Given the description of an element on the screen output the (x, y) to click on. 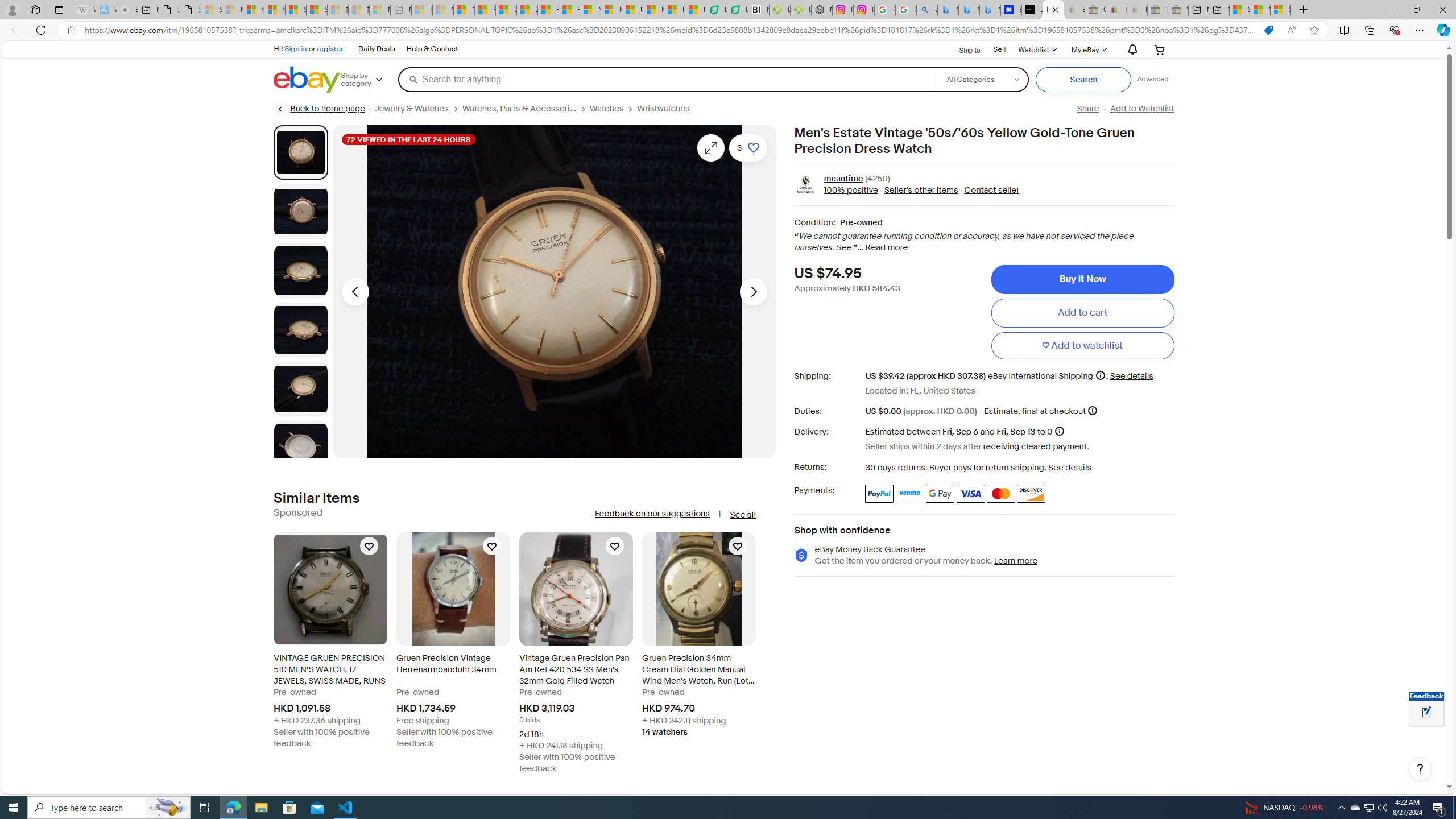
Daily Deals (376, 49)
Picture 6 of 8 (300, 448)
Microsoft Services Agreement - Sleeping (231, 9)
My eBayExpand My eBay (1088, 49)
Add to watchlist - 3 watchers (747, 147)
Wristwatches (667, 108)
Picture 1 of 8 (300, 152)
Daily Deals (376, 49)
Add to cart (1082, 312)
